Given the description of an element on the screen output the (x, y) to click on. 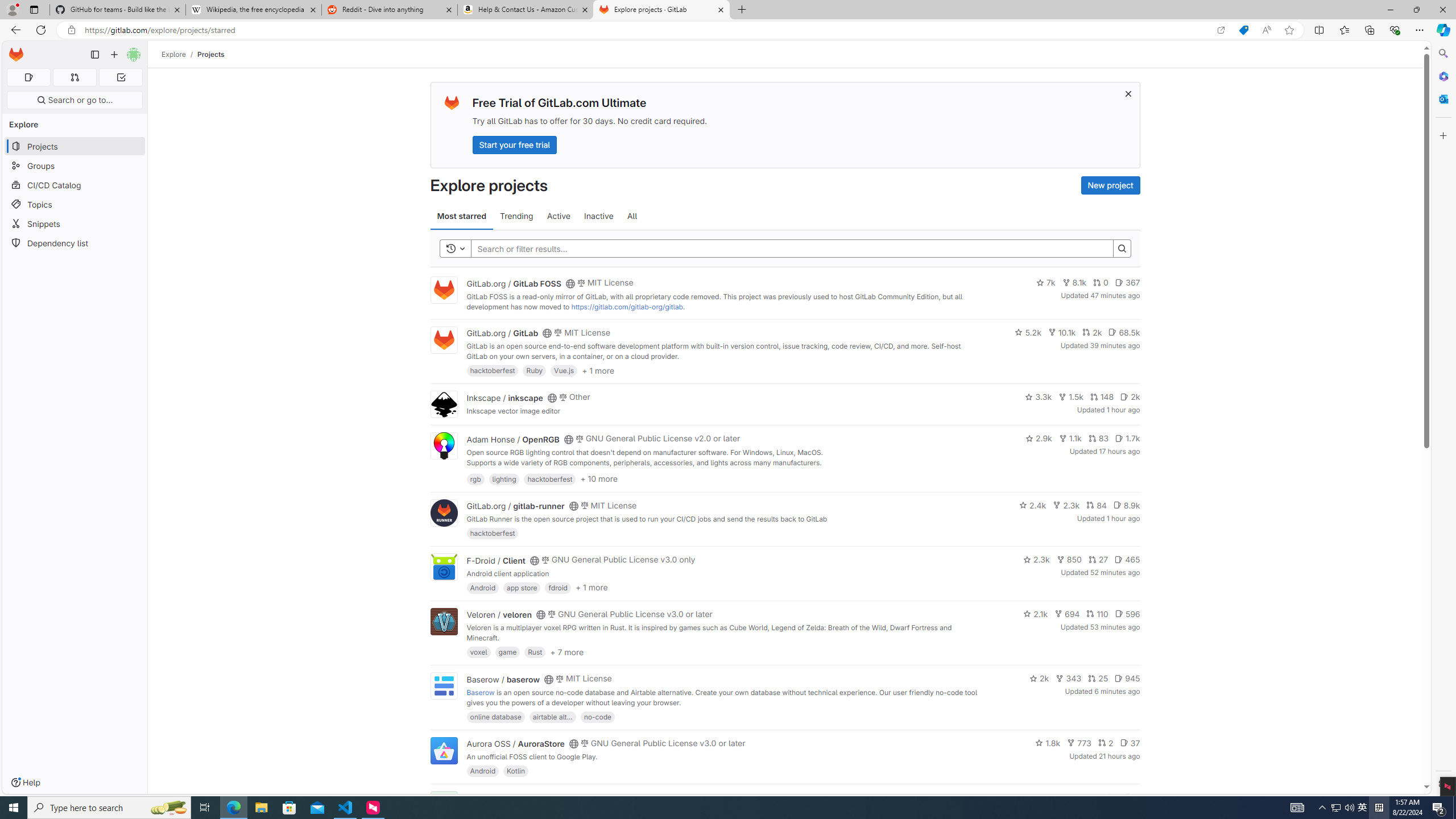
1.8k (1048, 742)
Inkscape / inkscape (504, 397)
All (632, 216)
1 (1111, 797)
rgb (475, 478)
2.9k (1038, 438)
lighting (504, 478)
Dependency list (74, 242)
2.4k (1032, 504)
hacktoberfest (492, 533)
Ruby (533, 370)
